Given the description of an element on the screen output the (x, y) to click on. 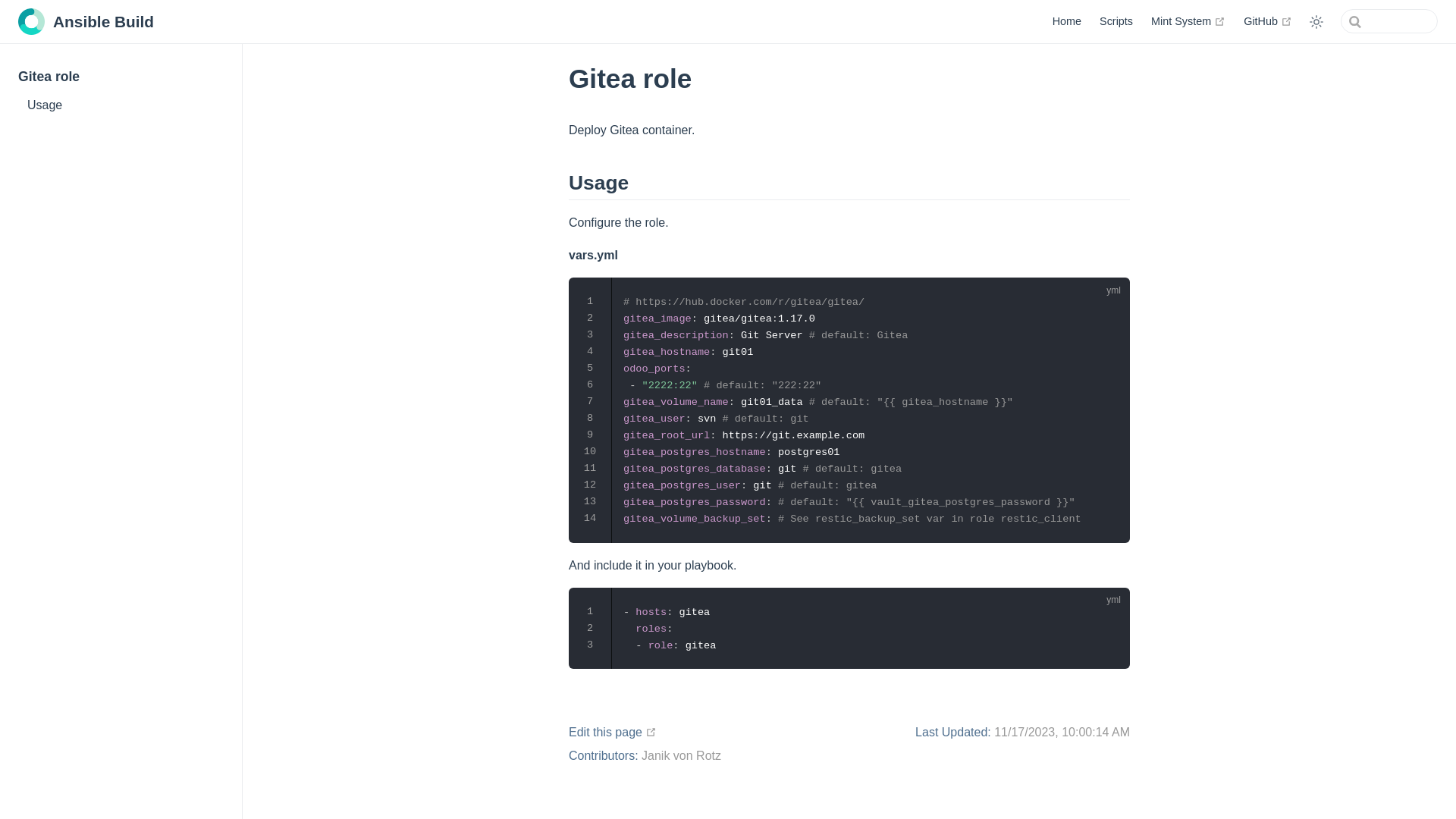
Usage Element type: text (120, 106)
GitHub
open in new window Element type: text (1267, 20)
Mint System
open in new window Element type: text (1188, 20)
Ansible Build Element type: text (85, 22)
Edit this page
open in new window Element type: text (612, 731)
toggle color mode Element type: hover (1316, 21)
Home Element type: text (1066, 20)
Scripts Element type: text (1115, 20)
